Given the description of an element on the screen output the (x, y) to click on. 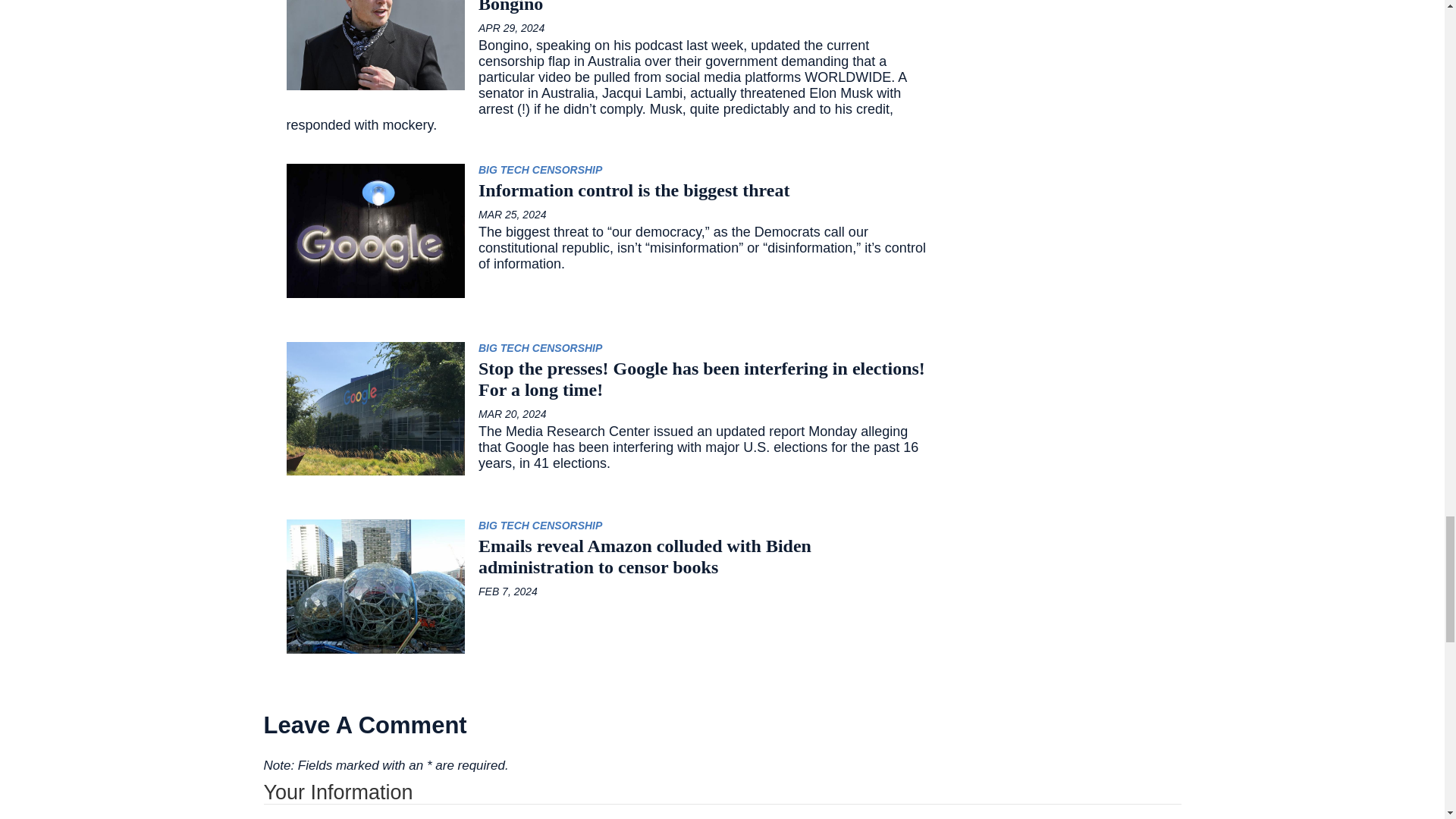
BIG TECH CENSORSHIP (540, 525)
Information control is the biggest threat (606, 189)
BIG TECH CENSORSHIP (540, 169)
BIG TECH CENSORSHIP (540, 347)
An important heads-up on global censorship from Dan Bongino (606, 7)
